Given the description of an element on the screen output the (x, y) to click on. 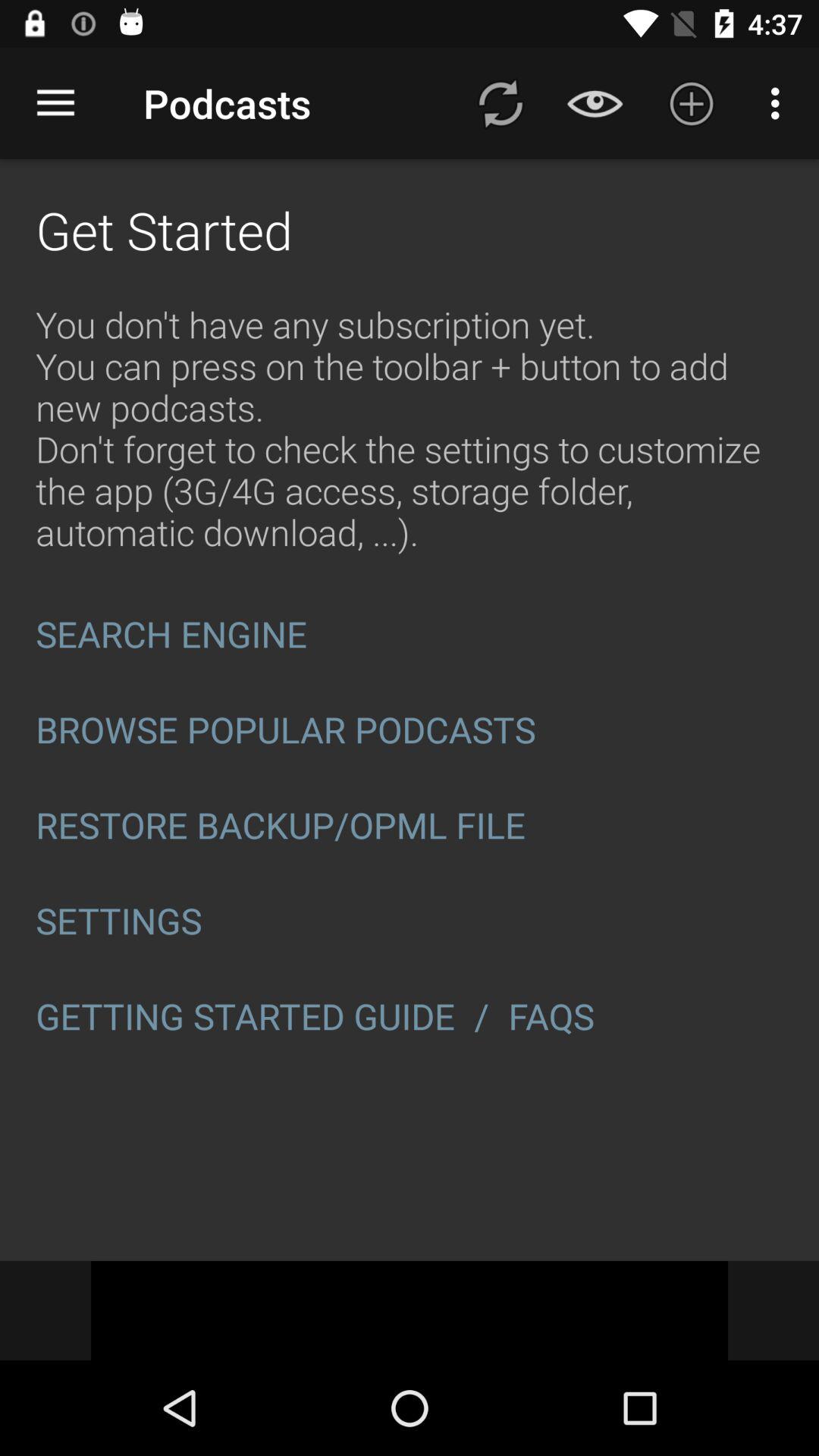
launch the search engine (409, 633)
